Given the description of an element on the screen output the (x, y) to click on. 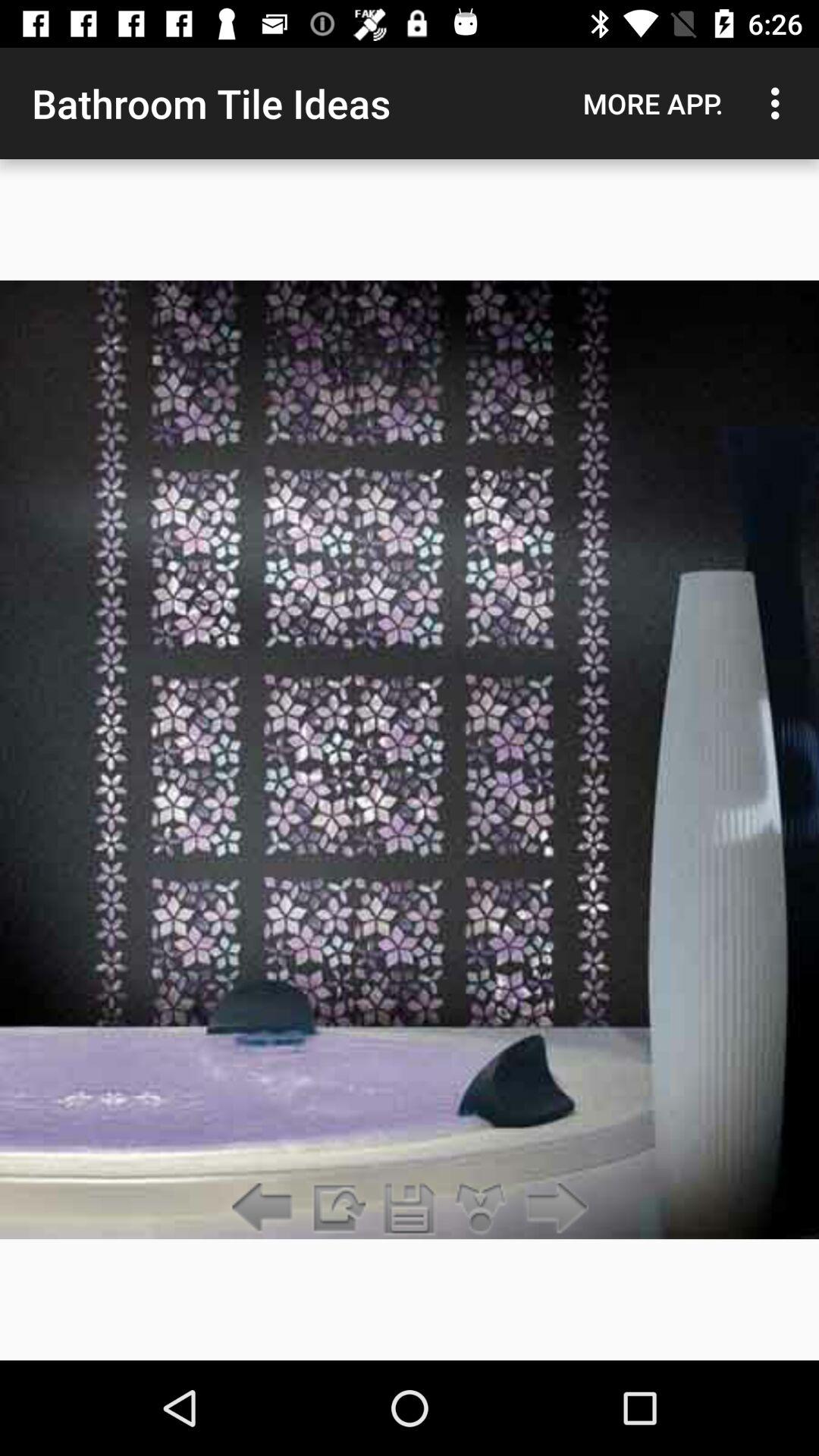
turn on the item below the bathroom tile ideas (409, 1208)
